Given the description of an element on the screen output the (x, y) to click on. 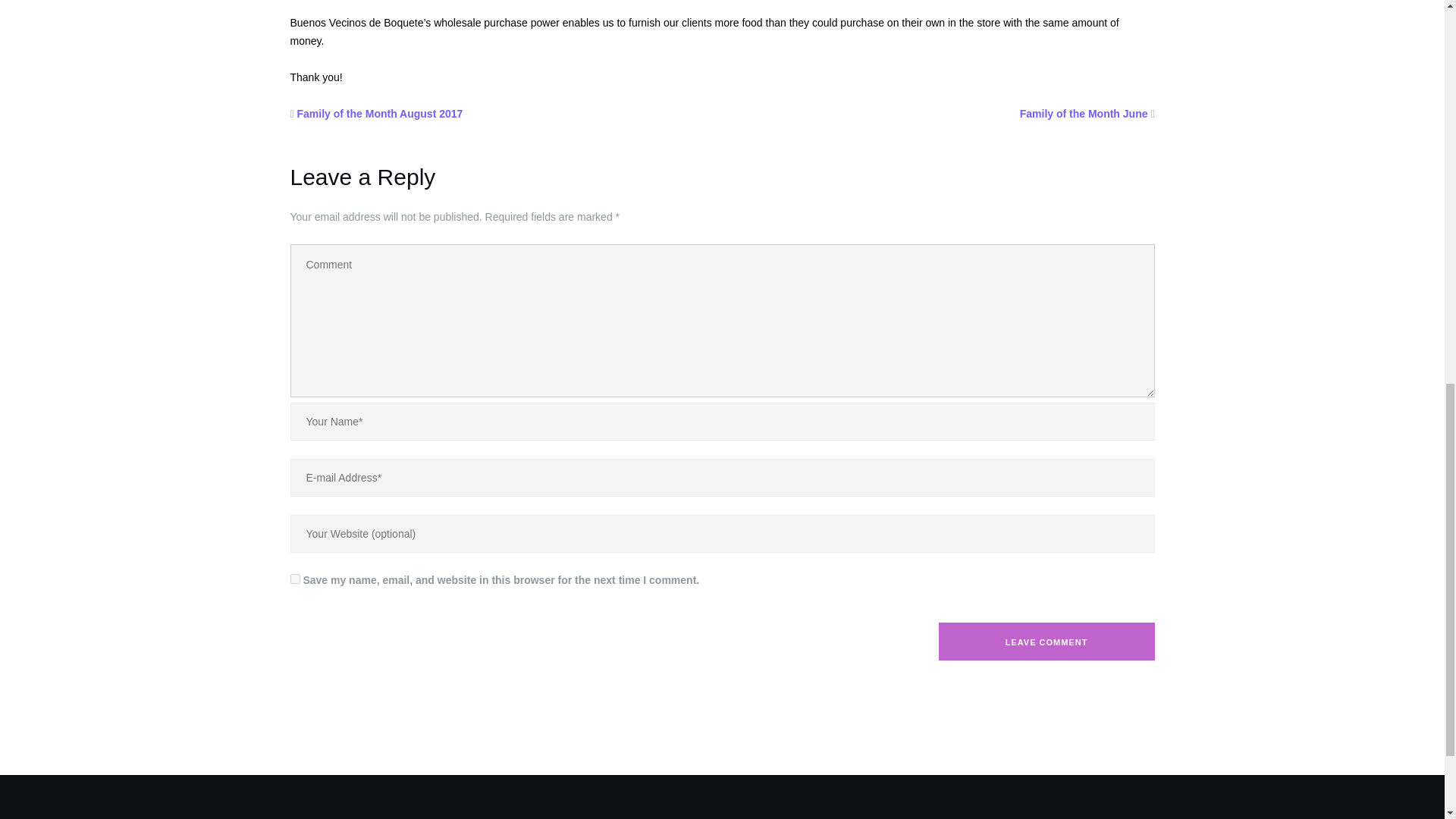
Family of the Month June (1084, 113)
Family of the Month August 2017 (380, 113)
Leave Comment (1046, 641)
Leave Comment (1046, 641)
yes (294, 578)
